Given the description of an element on the screen output the (x, y) to click on. 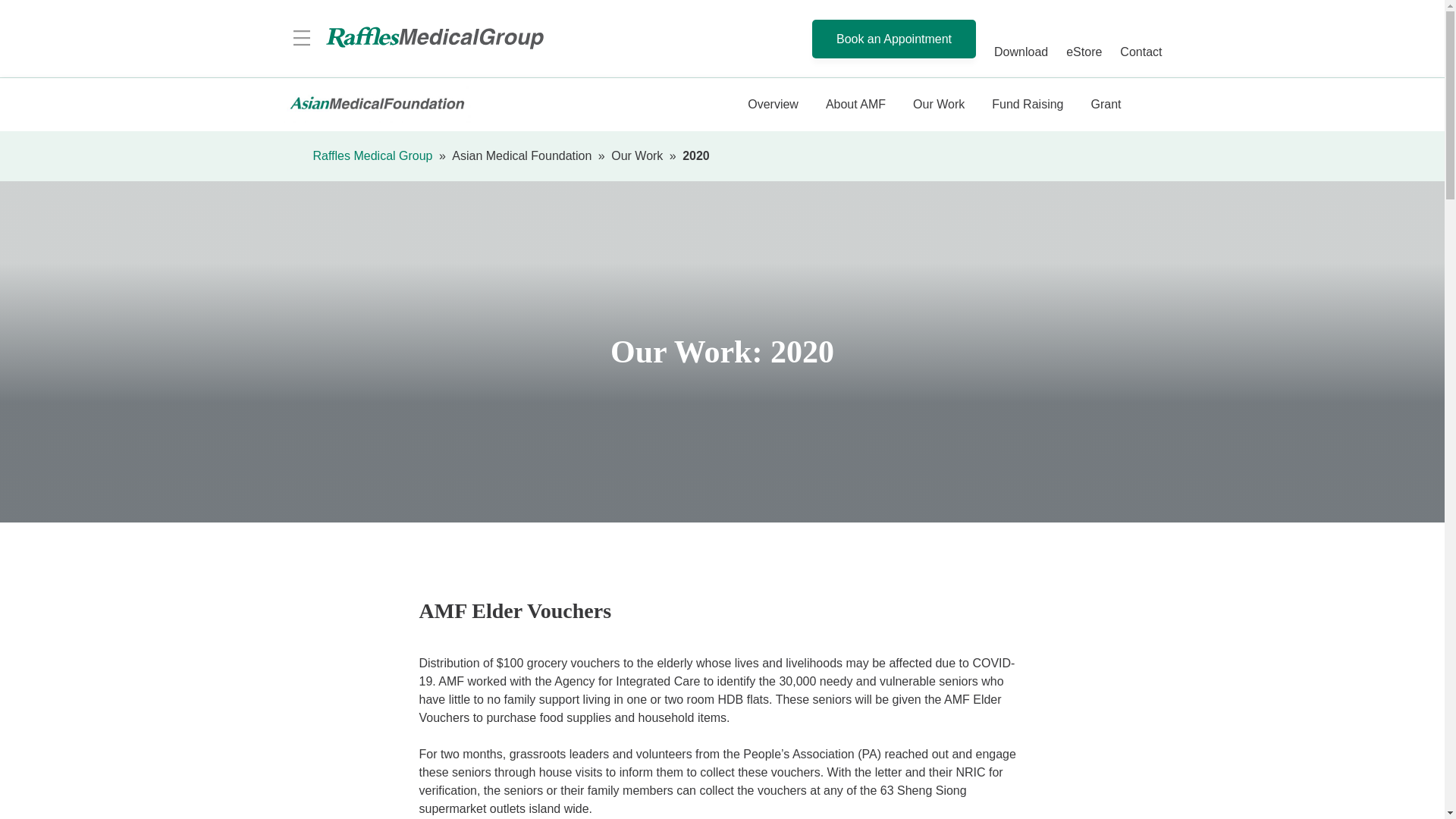
raffles medical group logo 2023 (947, 103)
uabb-menu-toggle (433, 38)
AsianMedicalFoundation Logo (302, 38)
